Given the description of an element on the screen output the (x, y) to click on. 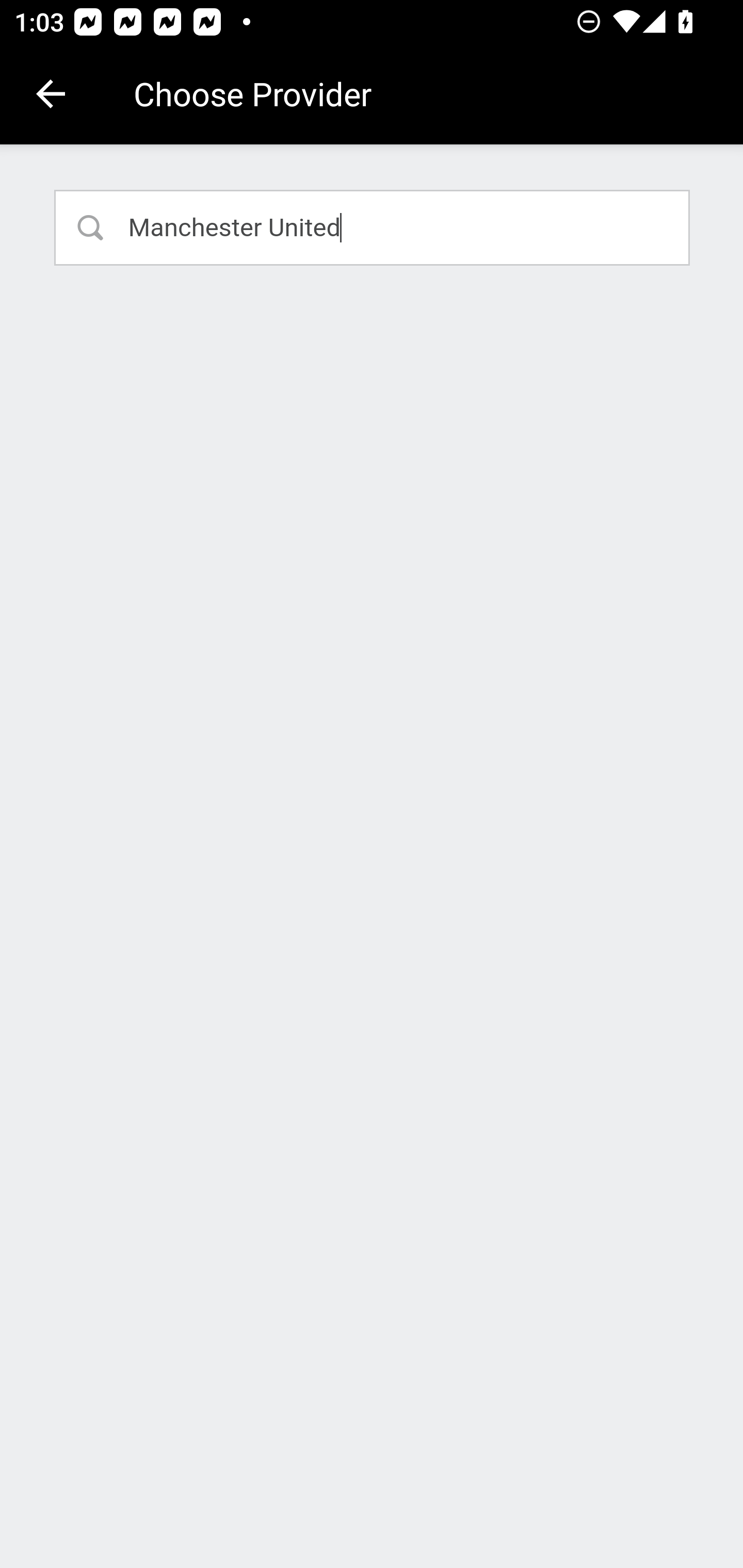
Navigate up (50, 93)
Manchester United (372, 227)
